Given the description of an element on the screen output the (x, y) to click on. 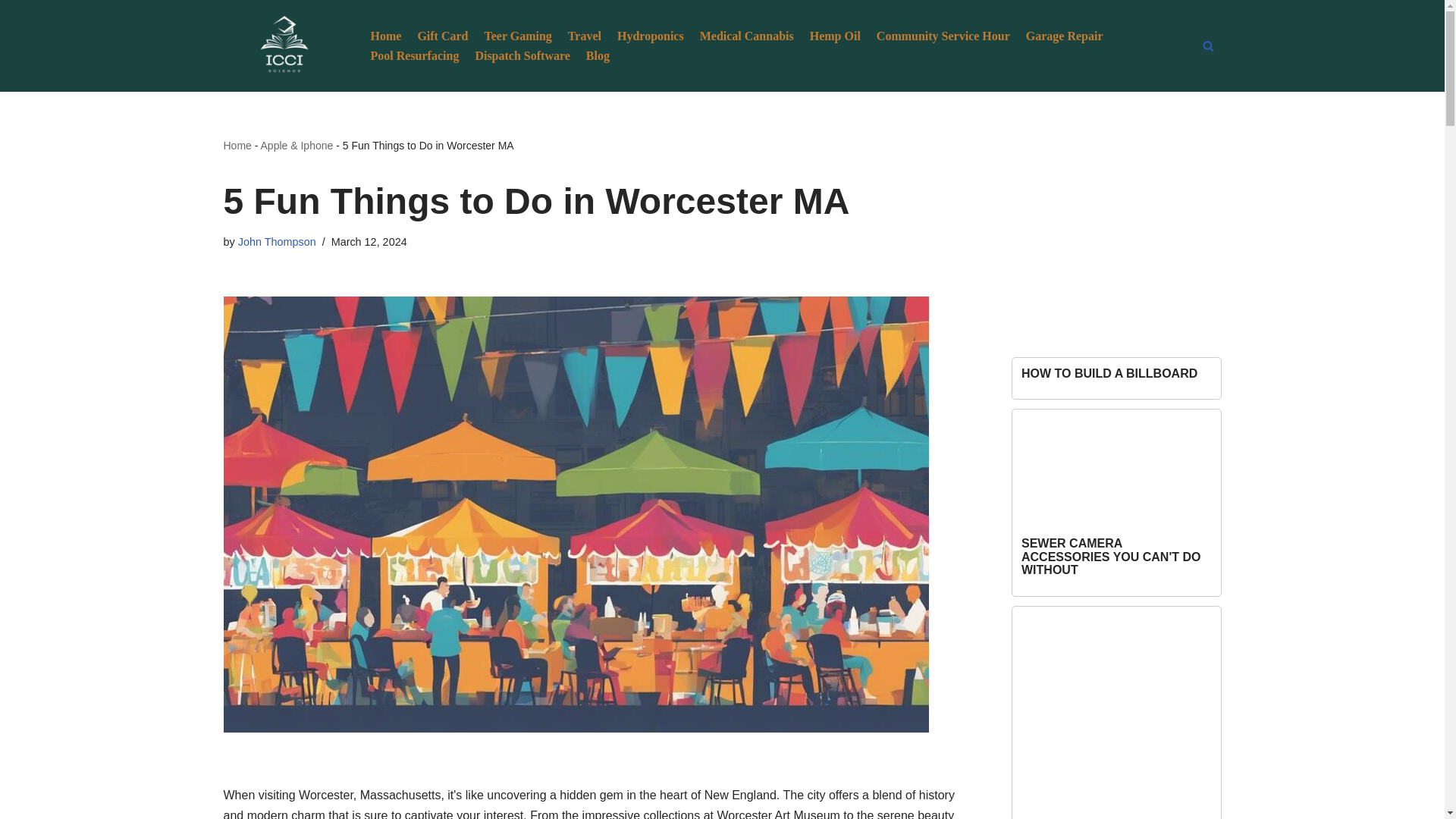
Hemp Oil (834, 35)
Blog (598, 55)
Home (236, 145)
John Thompson (276, 241)
Skip to content (11, 31)
Home (385, 35)
Dispatch Software (521, 55)
Travel (584, 35)
Teer Gaming (517, 35)
Hydroponics (650, 35)
Medical Cannabis (746, 35)
Community Service Hour (943, 35)
Posts by John Thompson (276, 241)
Gift Card (441, 35)
Garage Repair (1064, 35)
